Given the description of an element on the screen output the (x, y) to click on. 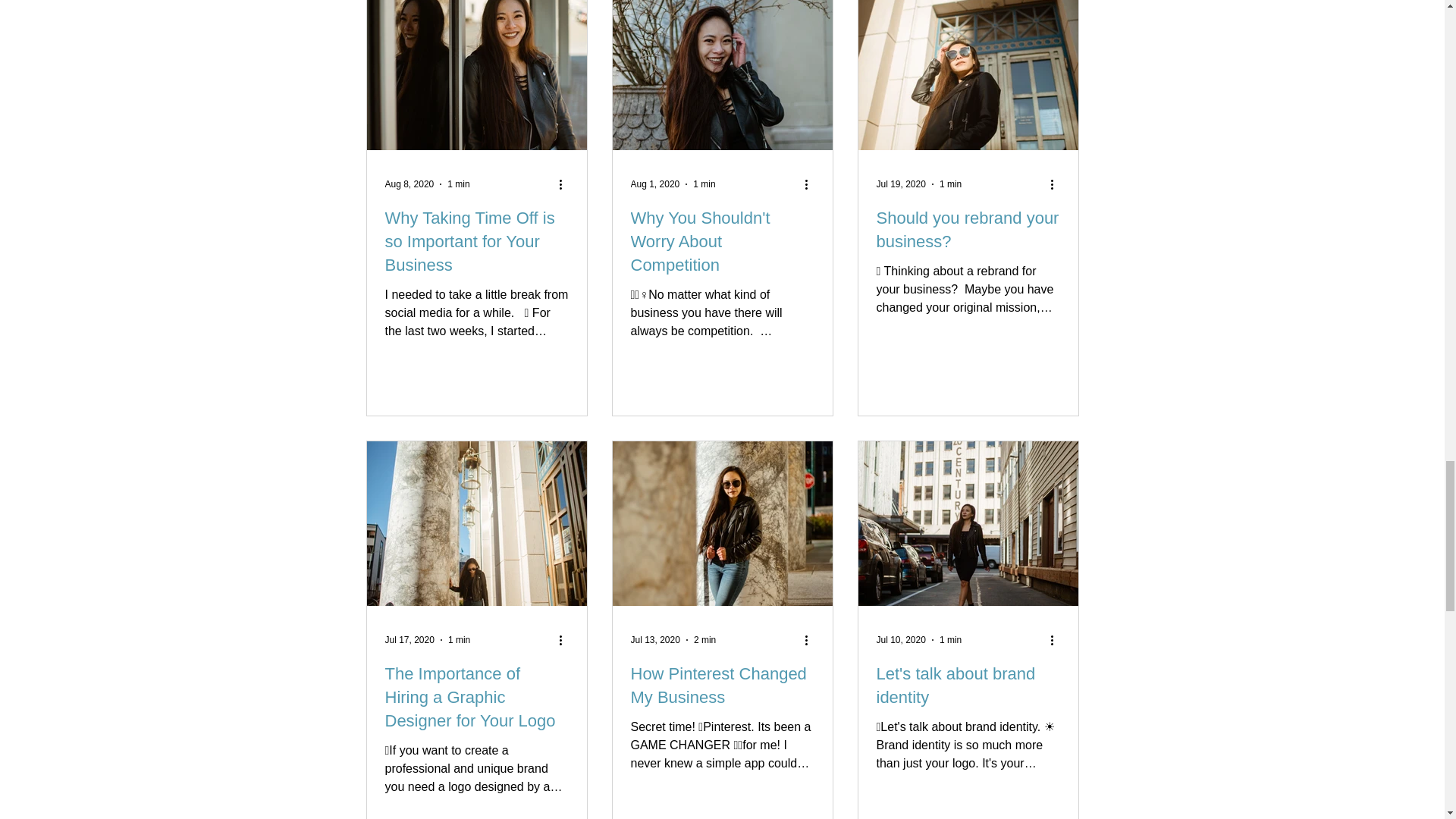
The Importance of Hiring a Graphic Designer for Your Logo (477, 697)
1 min (949, 639)
Aug 1, 2020 (654, 184)
Should you rebrand your business? (967, 230)
Aug 8, 2020 (409, 184)
Jul 13, 2020 (654, 639)
2 min (705, 639)
1 min (949, 184)
Jul 17, 2020 (409, 639)
1 min (457, 184)
Why Taking Time Off is so Important for Your Business (477, 241)
1 min (459, 639)
Why You Shouldn't Worry About Competition (721, 241)
1 min (703, 184)
How Pinterest Changed My Business (721, 686)
